Given the description of an element on the screen output the (x, y) to click on. 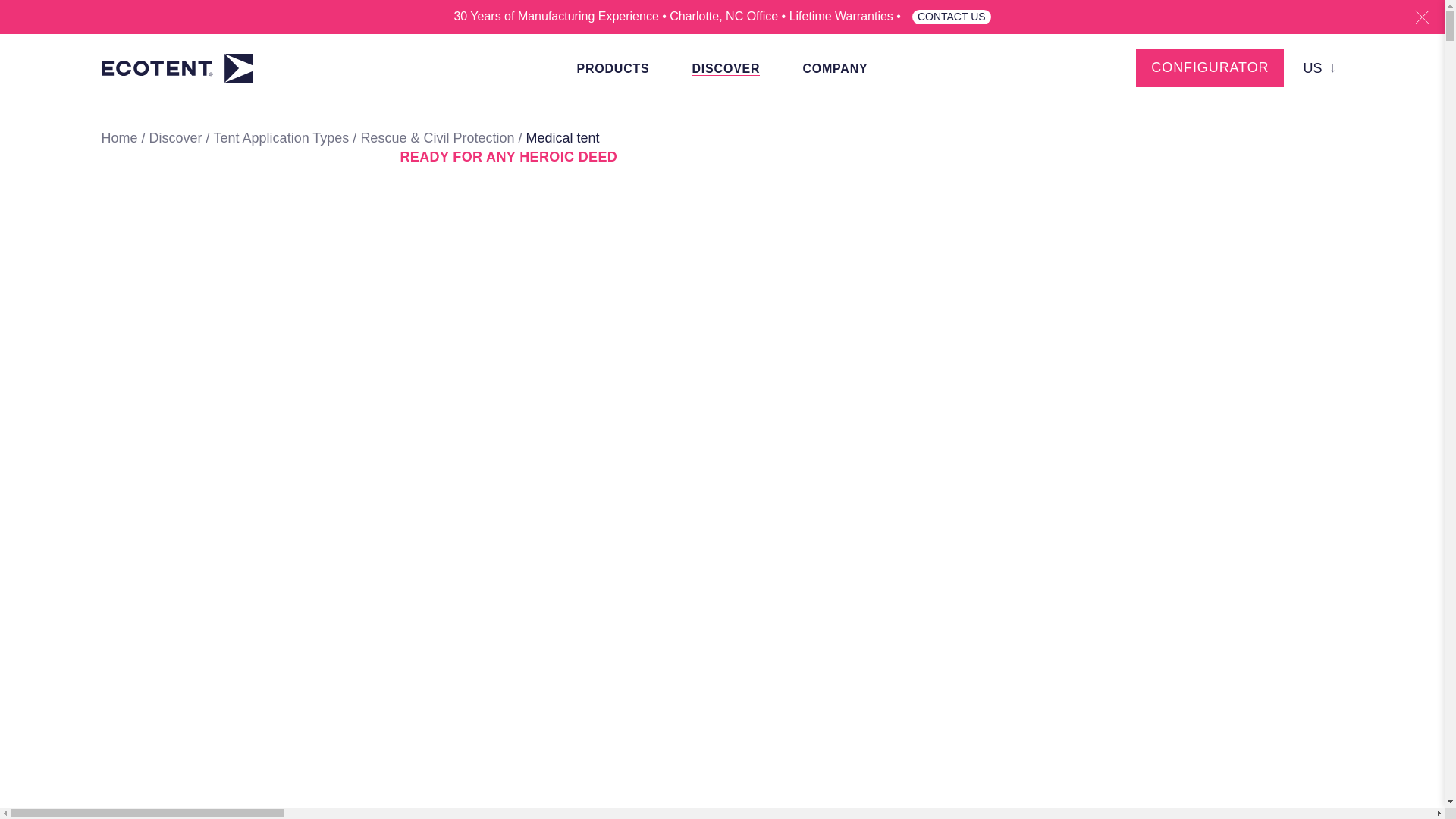
PRODUCTS (612, 68)
DISCOVER (726, 68)
Ecotent (179, 68)
US (1320, 68)
CONFIGURATOR (1209, 67)
close (1422, 16)
CONTACT US (951, 16)
